Given the description of an element on the screen output the (x, y) to click on. 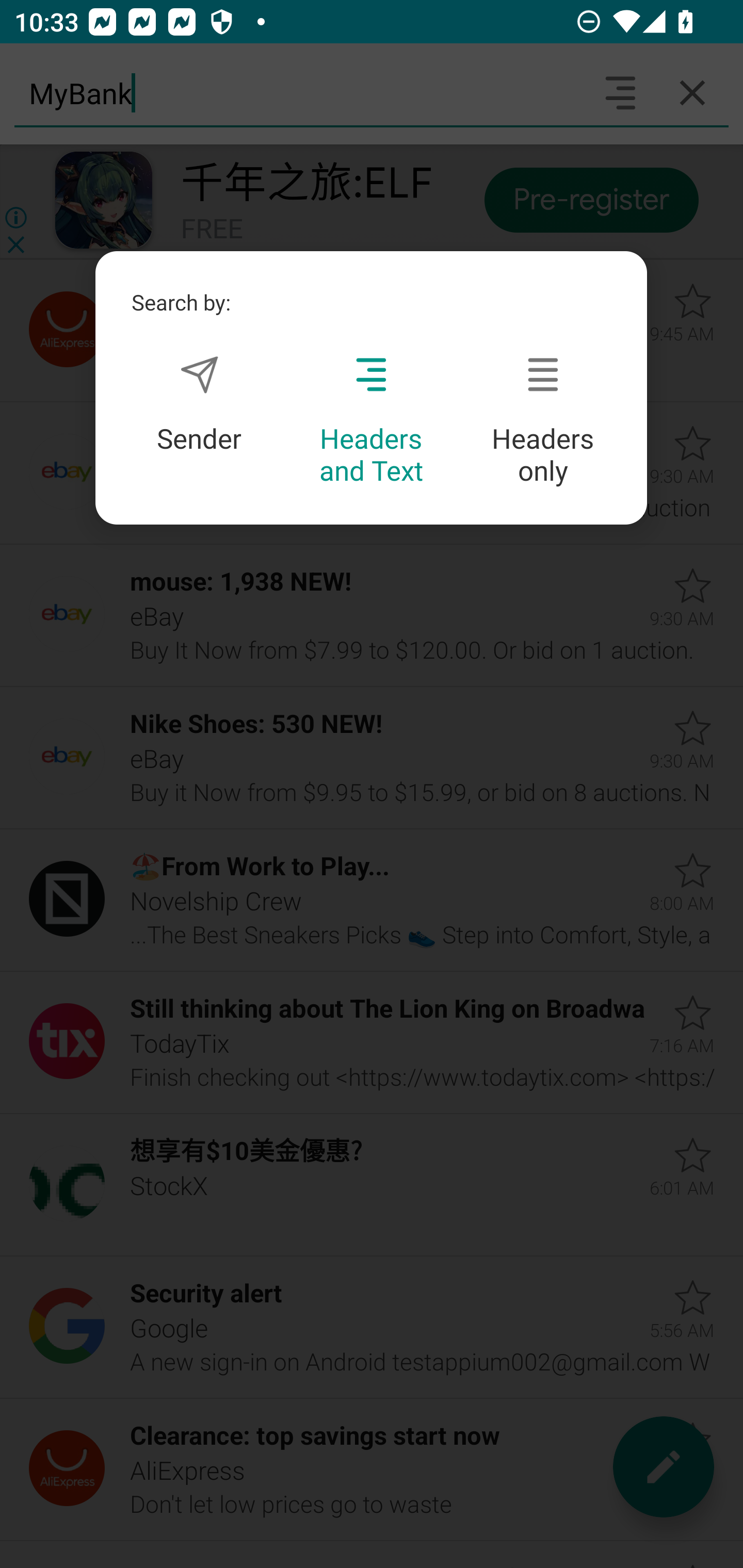
Sender (199, 404)
Headers and Text (371, 420)
Headers only (542, 420)
